Given the description of an element on the screen output the (x, y) to click on. 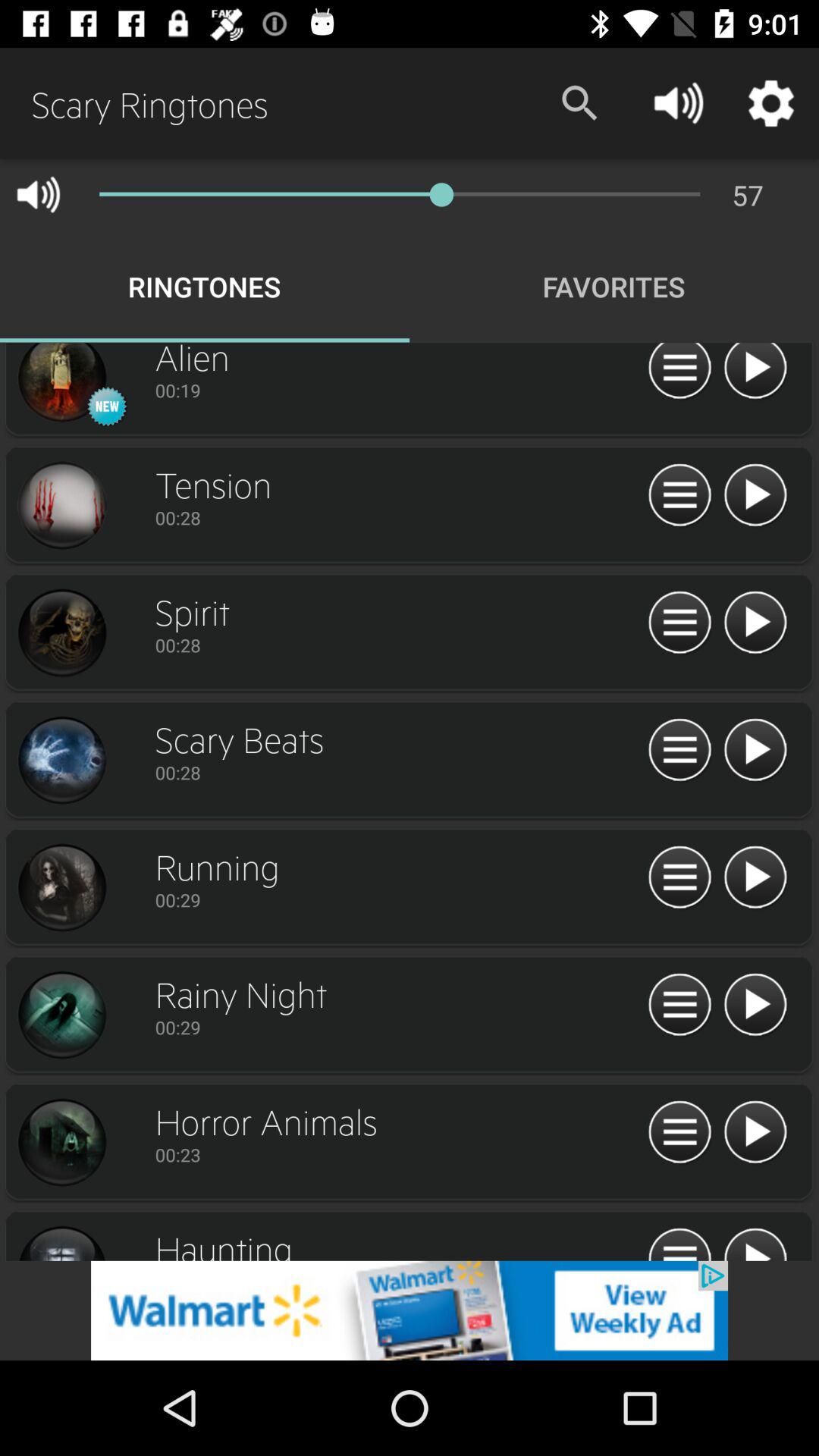
play (755, 373)
